Given the description of an element on the screen output the (x, y) to click on. 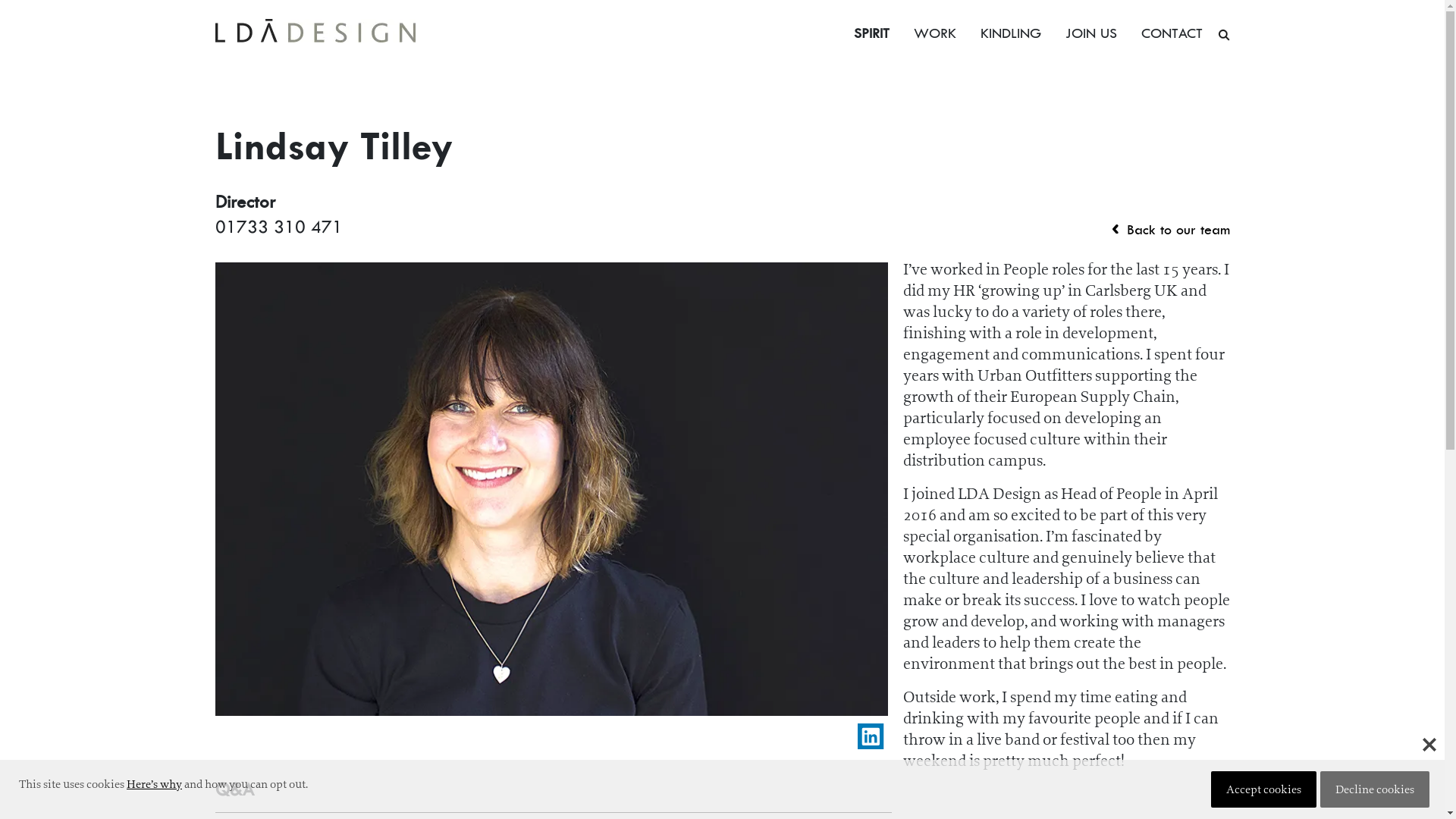
JOIN US (1090, 34)
KINDLING (1010, 34)
Accept cookies (1263, 789)
SPIRIT (871, 34)
Back to our team (1171, 230)
WORK (934, 34)
CONTACT (1171, 34)
Decline cookies (1374, 789)
